Given the description of an element on the screen output the (x, y) to click on. 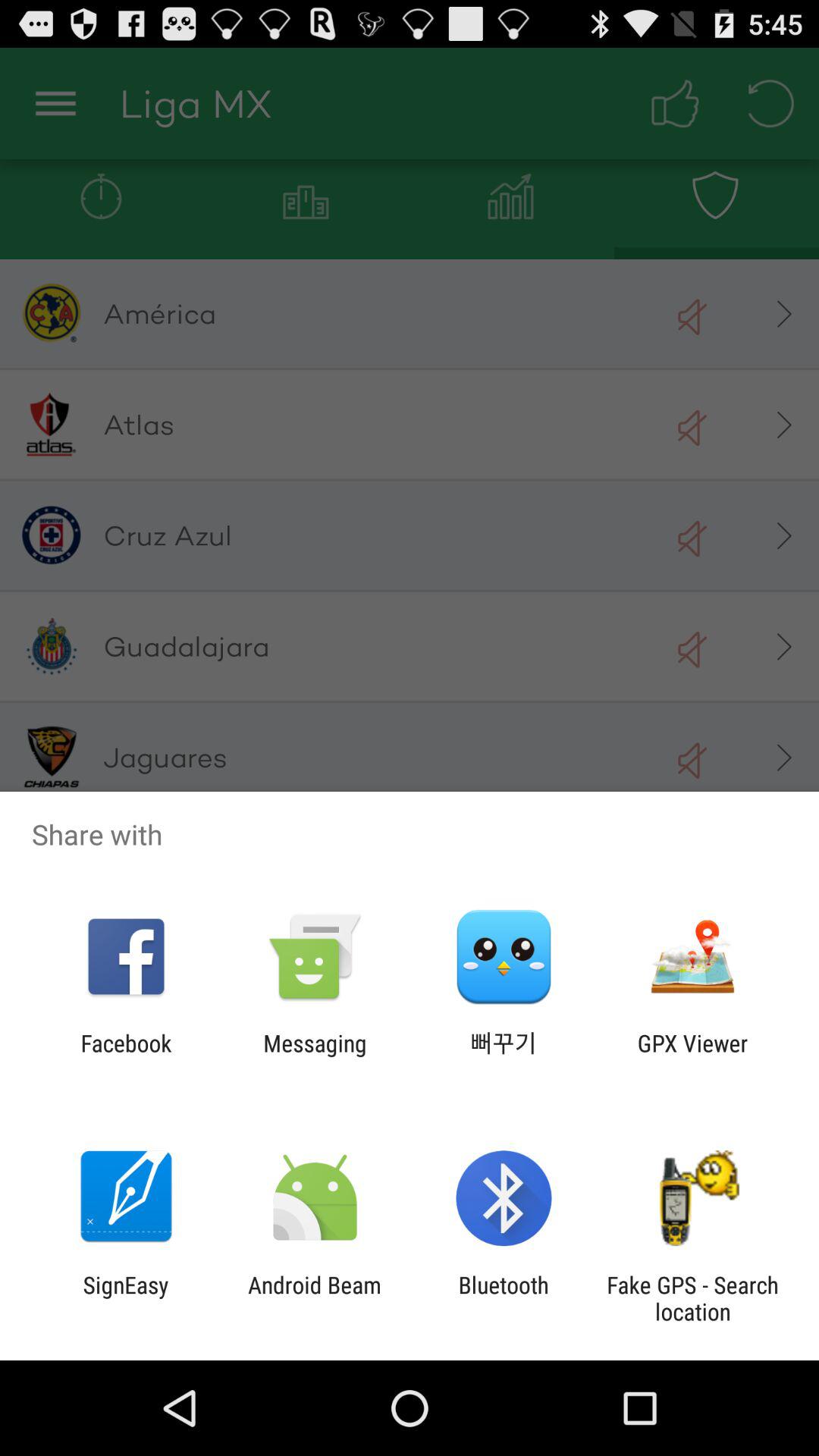
press app to the left of gpx viewer app (503, 1056)
